Given the description of an element on the screen output the (x, y) to click on. 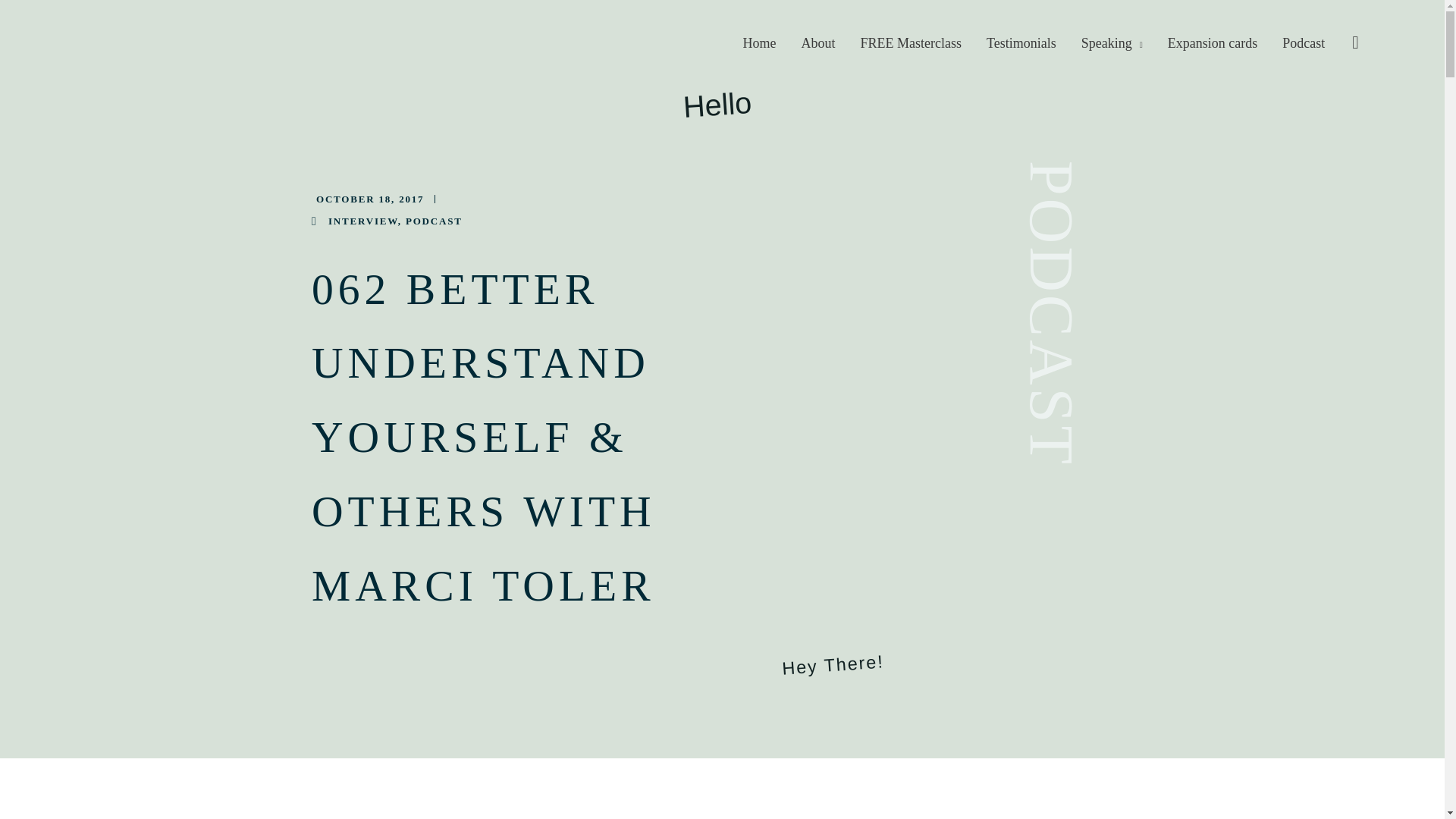
Speaking (1113, 42)
Podcast (1304, 42)
PODCAST (434, 220)
Home (761, 42)
Expansion cards (1213, 42)
FREE Masterclass (911, 42)
Testimonials (1022, 42)
OCTOBER 18, 2017 (367, 199)
INTERVIEW (363, 220)
About (819, 42)
